Given the description of an element on the screen output the (x, y) to click on. 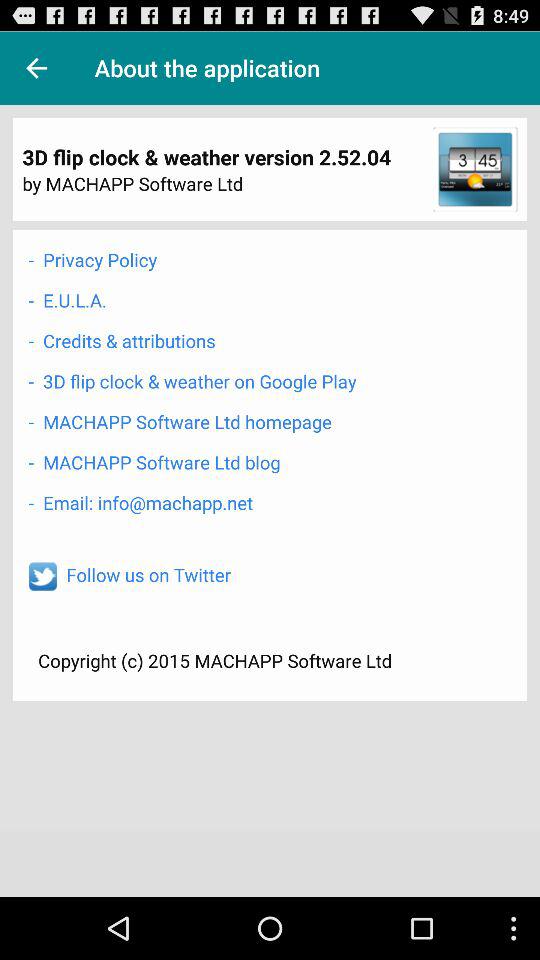
go back (36, 68)
